Given the description of an element on the screen output the (x, y) to click on. 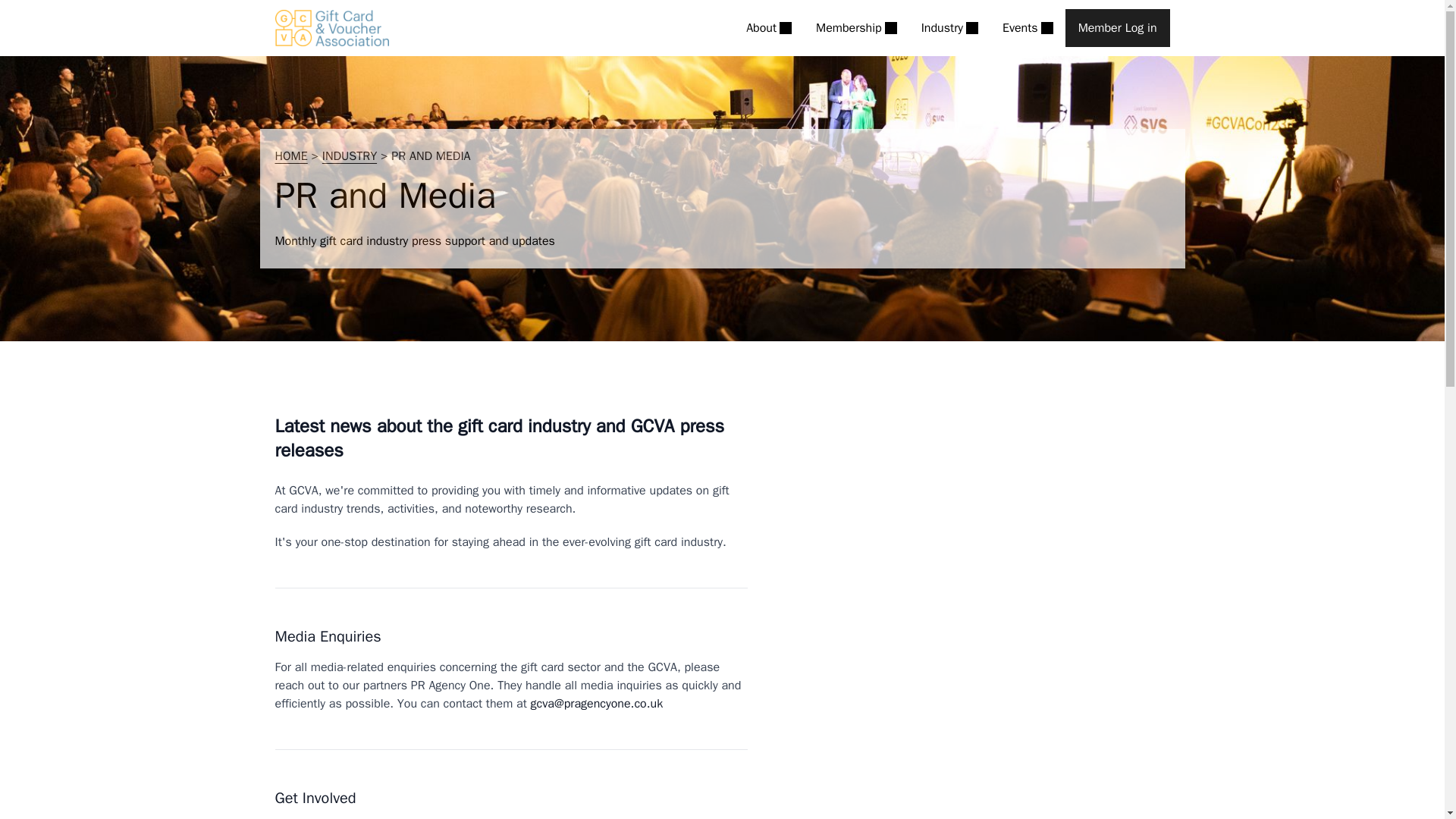
Membership (855, 27)
Events (1027, 27)
INDUSTRY (349, 155)
Home (331, 27)
HOME (291, 155)
Member Log in (1117, 27)
Industry (949, 27)
About (768, 27)
